Given the description of an element on the screen output the (x, y) to click on. 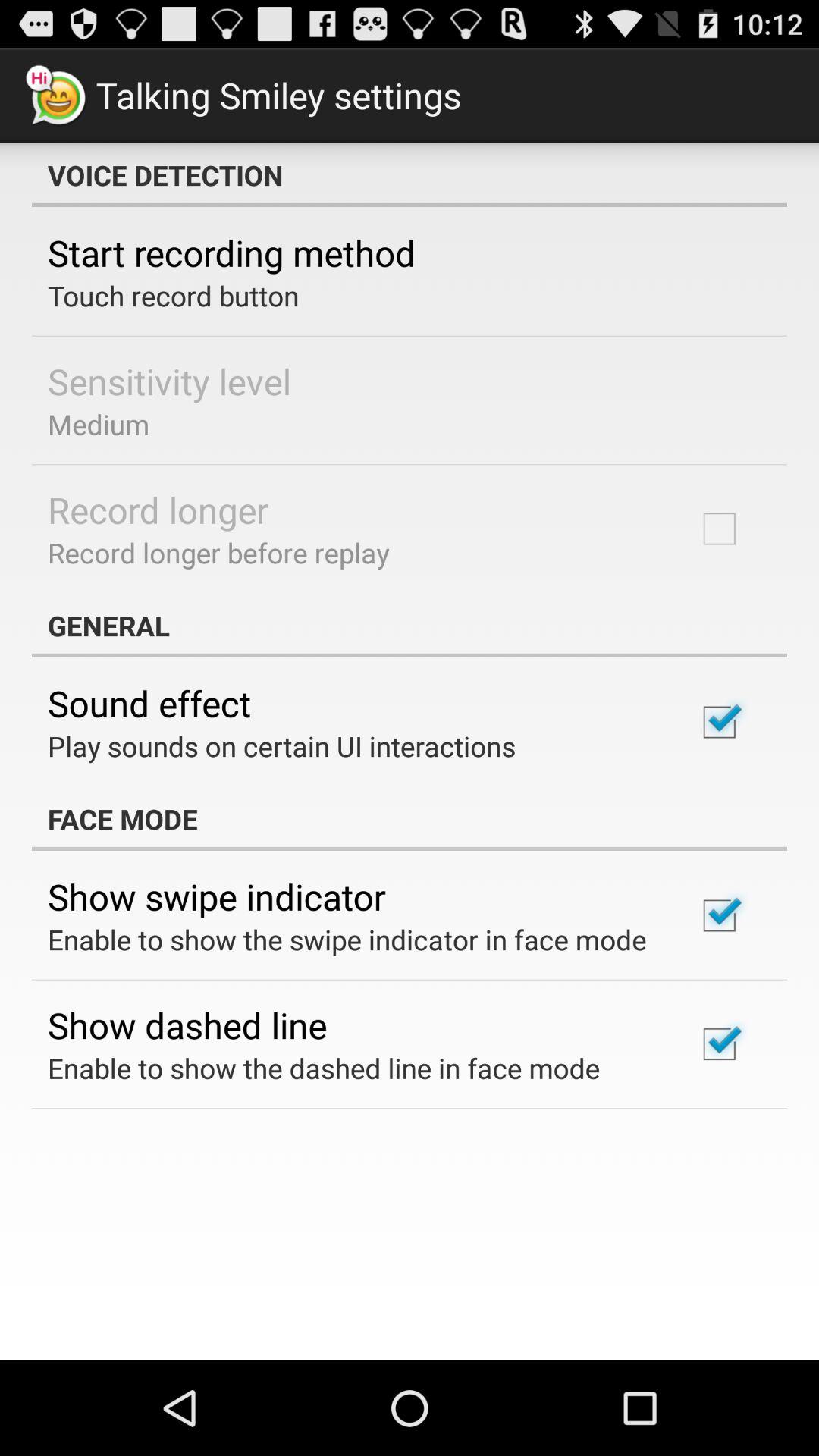
press item above the sensitivity level app (173, 295)
